Given the description of an element on the screen output the (x, y) to click on. 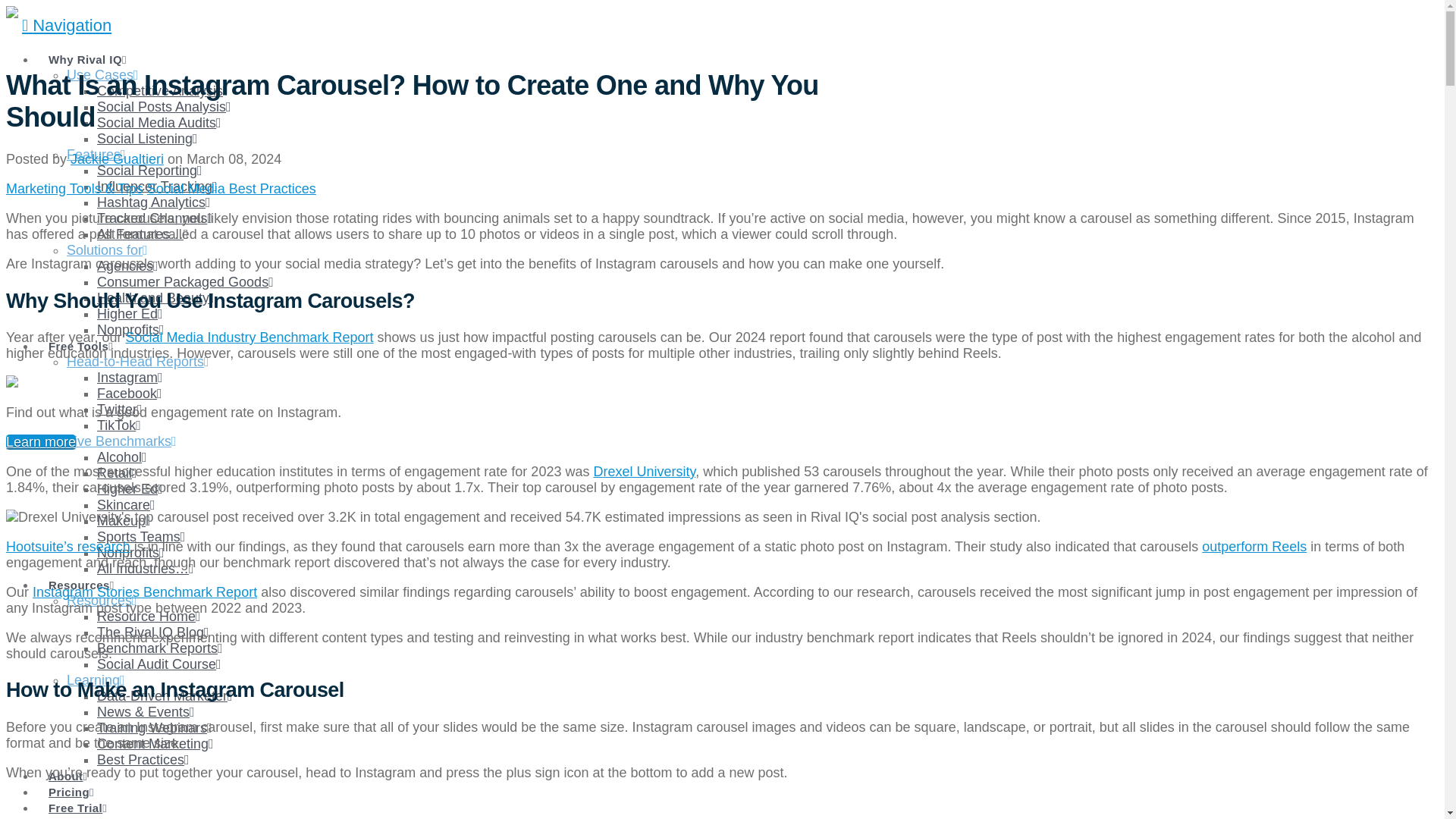
TikTok (119, 425)
Competitive Analysis (162, 90)
Social Posts Analysis (164, 106)
Nonprofits (130, 329)
Why Rival IQ (87, 50)
Makeup (124, 520)
Sports Teams (140, 536)
Solutions for (107, 249)
Resource Home (148, 616)
Live Benchmarks (121, 441)
Use Cases (102, 74)
Social Listening (147, 138)
Influencer Tracking (156, 186)
Higher Ed (130, 313)
Resources (80, 575)
